Given the description of an element on the screen output the (x, y) to click on. 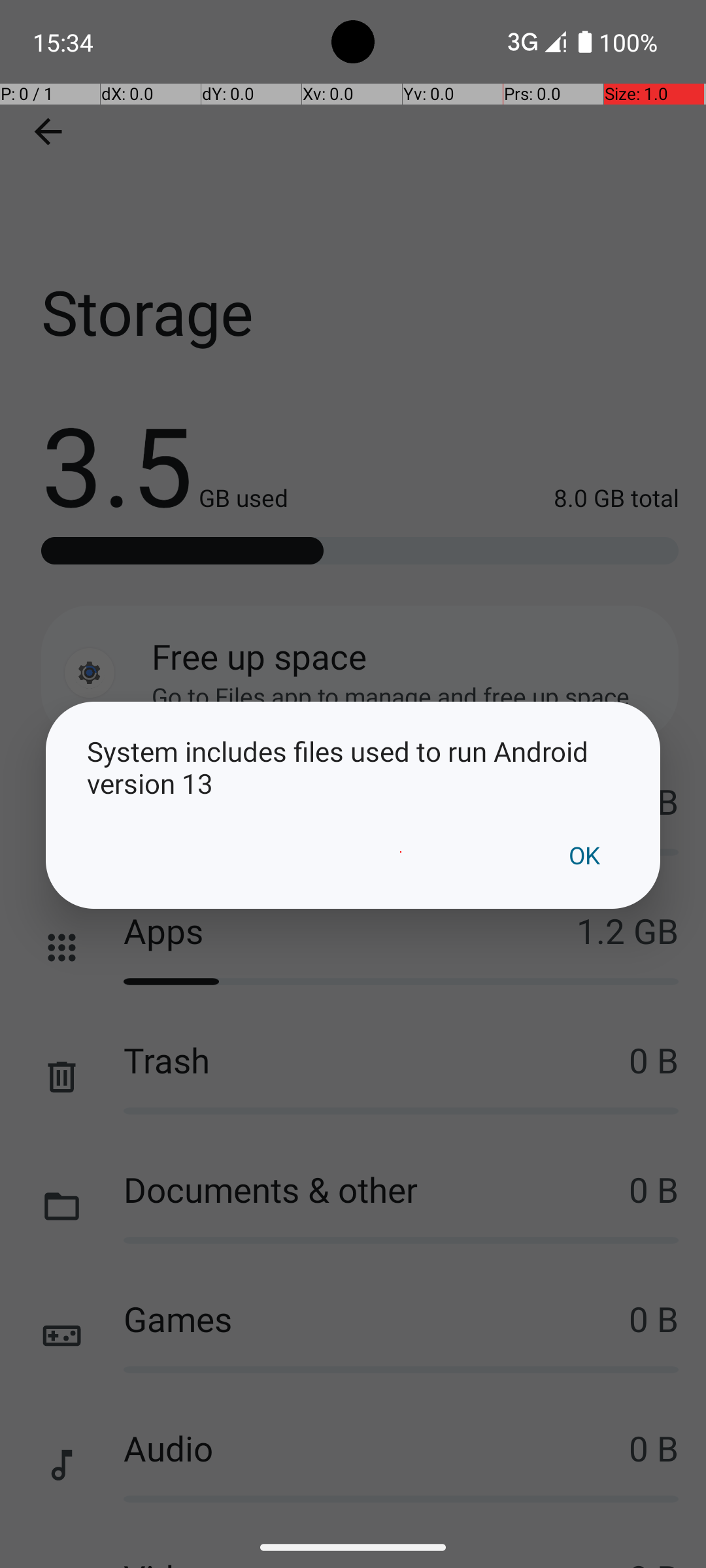
System includes files used to run Android version 13 Element type: android.widget.TextView (352, 766)
